Given the description of an element on the screen output the (x, y) to click on. 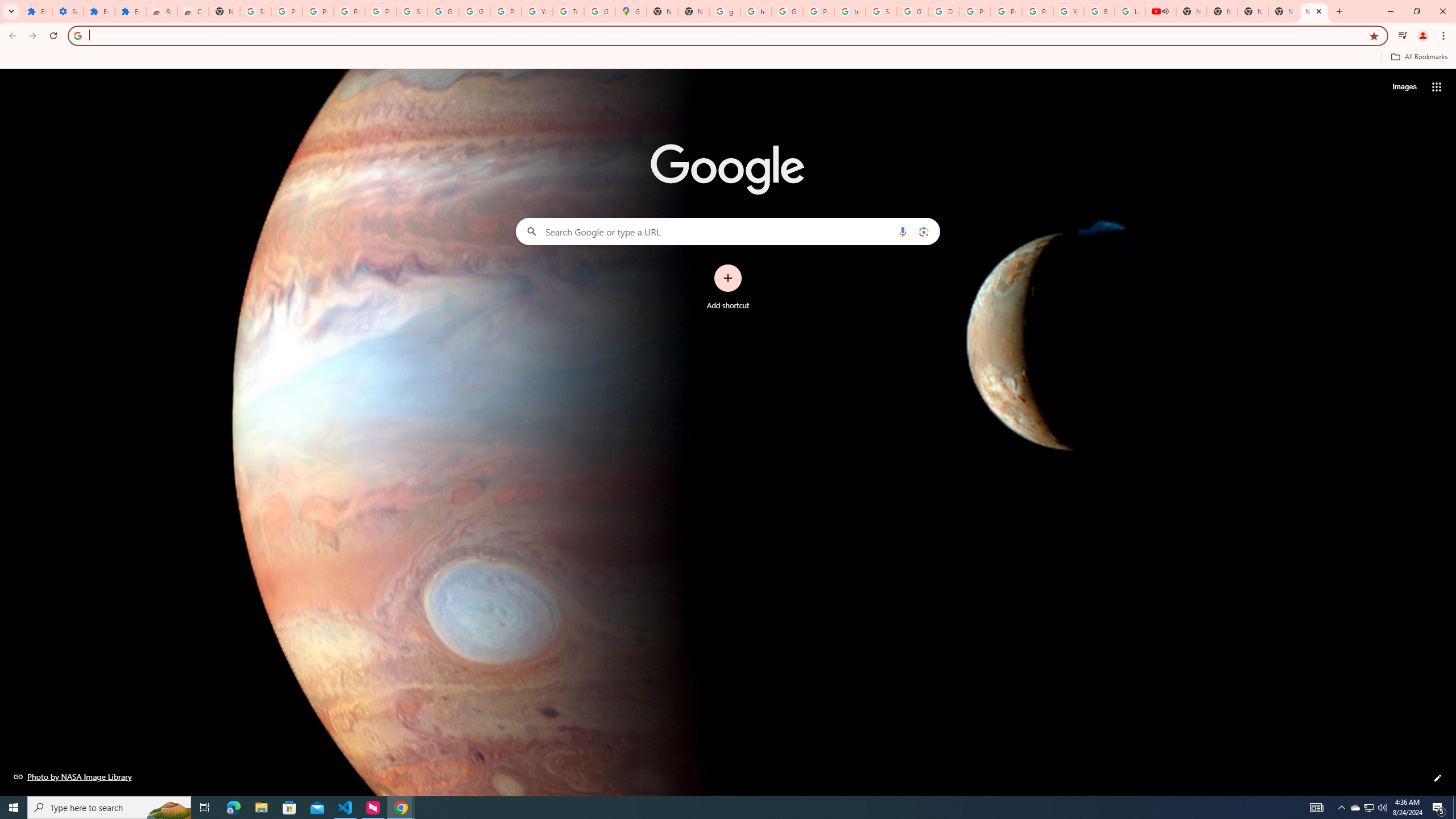
Extensions (130, 11)
